Given the description of an element on the screen output the (x, y) to click on. 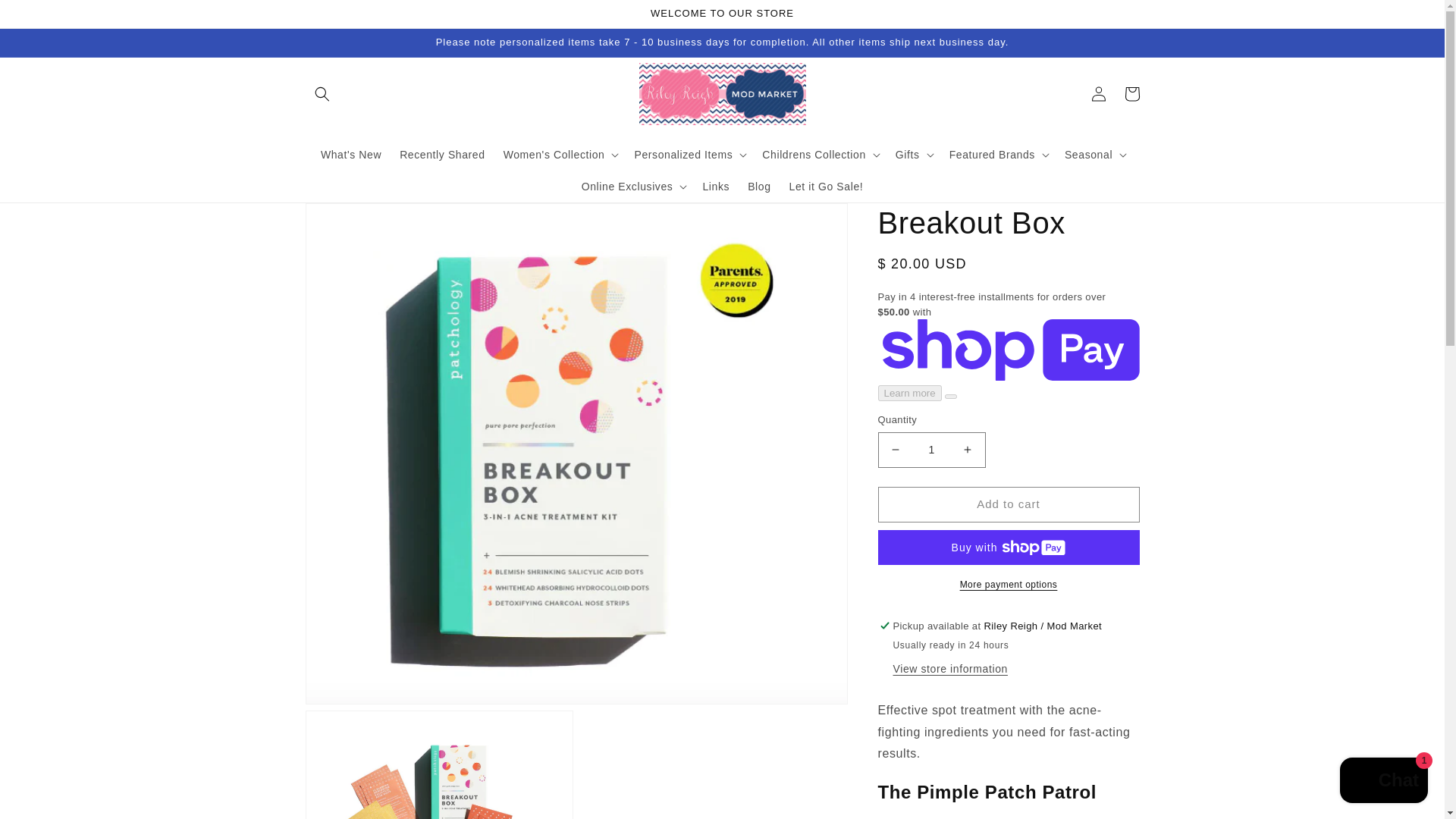
1 (931, 449)
Shopify online store chat (1383, 781)
Skip to content (45, 17)
